Given the description of an element on the screen output the (x, y) to click on. 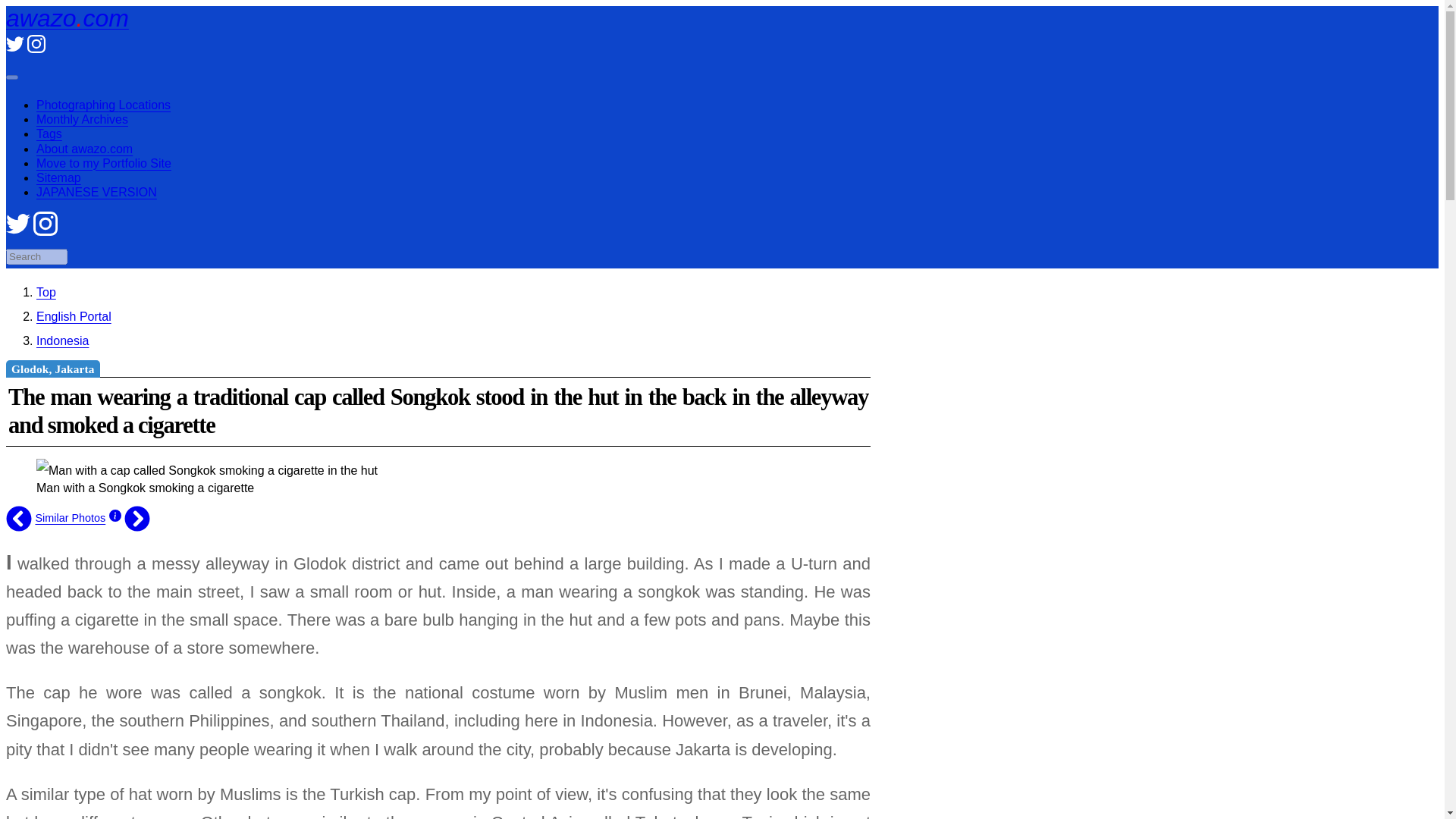
awazo.com (46, 291)
Sitemap (58, 177)
English Portal (74, 316)
Twitter (17, 231)
JAPANESE VERSION (96, 192)
Move to my Portfolio Site (103, 163)
Monthly Archives (82, 119)
Related Photos (69, 517)
awazo.com (67, 17)
Indonesia (62, 340)
Similar Photos (69, 517)
Photo Information (114, 517)
awazo.com (67, 17)
Photographing Locations (103, 104)
Instagram (36, 48)
